Given the description of an element on the screen output the (x, y) to click on. 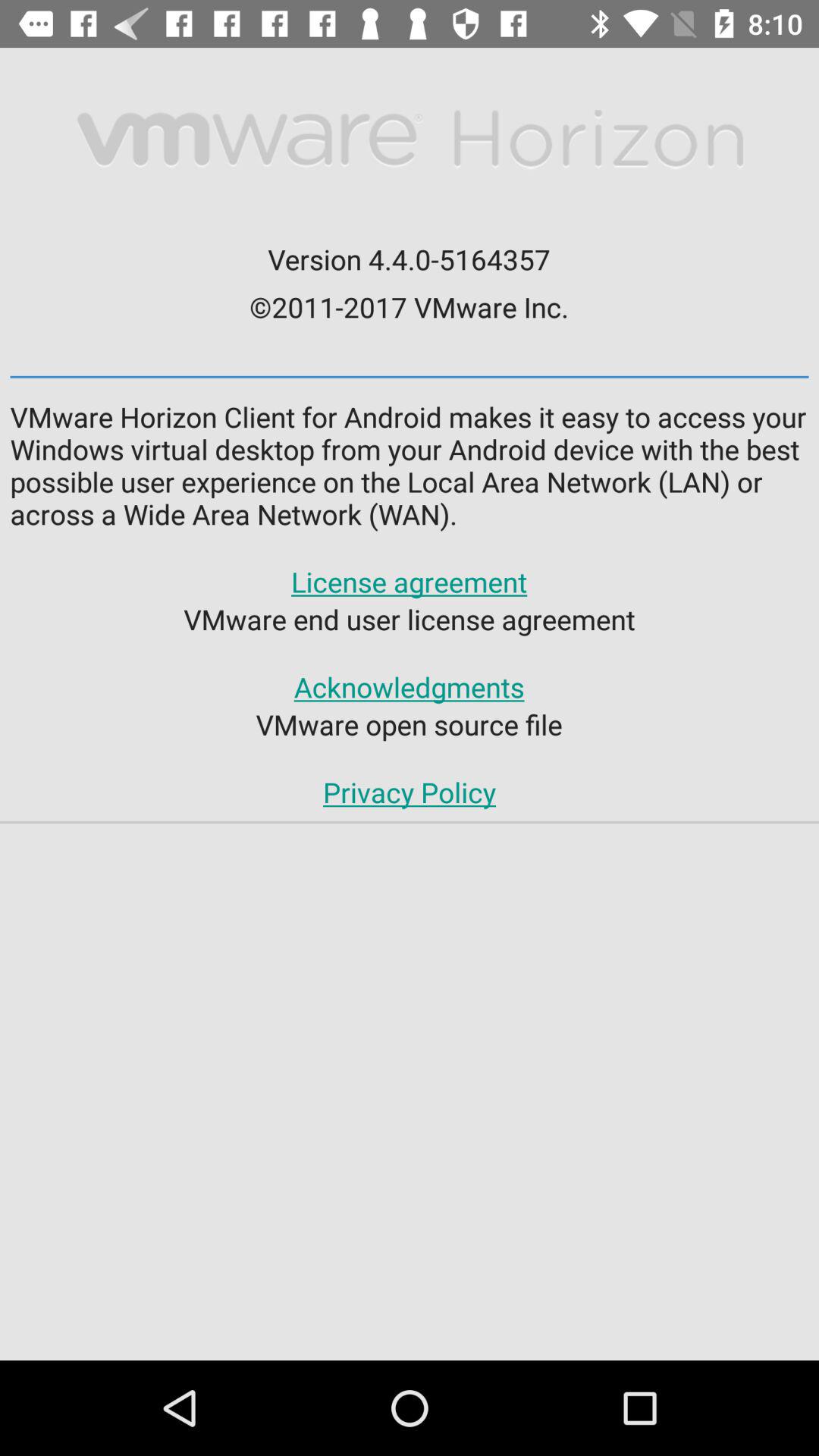
tap vmware open source icon (408, 724)
